Given the description of an element on the screen output the (x, y) to click on. 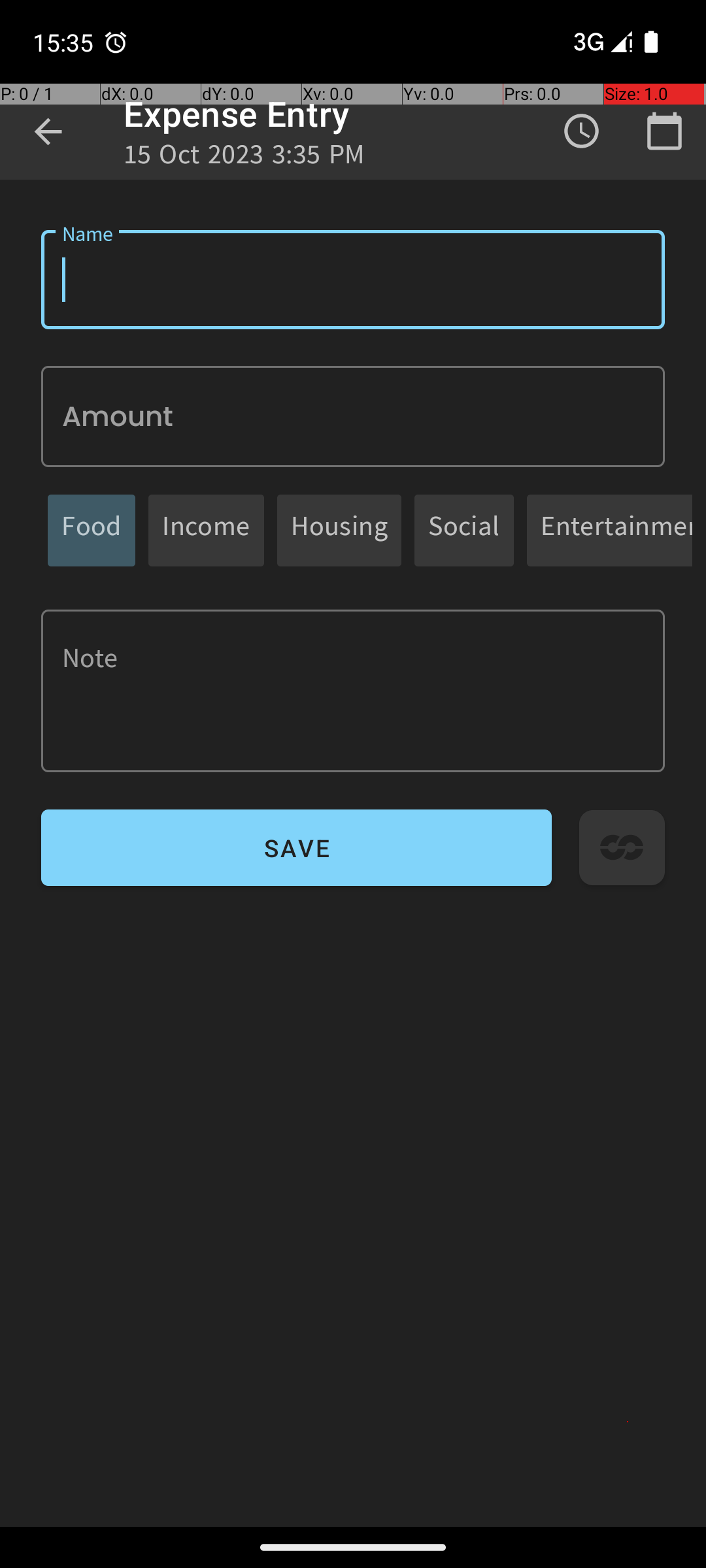
15 Oct 2023 3:35 PM Element type: android.widget.TextView (244, 157)
